Given the description of an element on the screen output the (x, y) to click on. 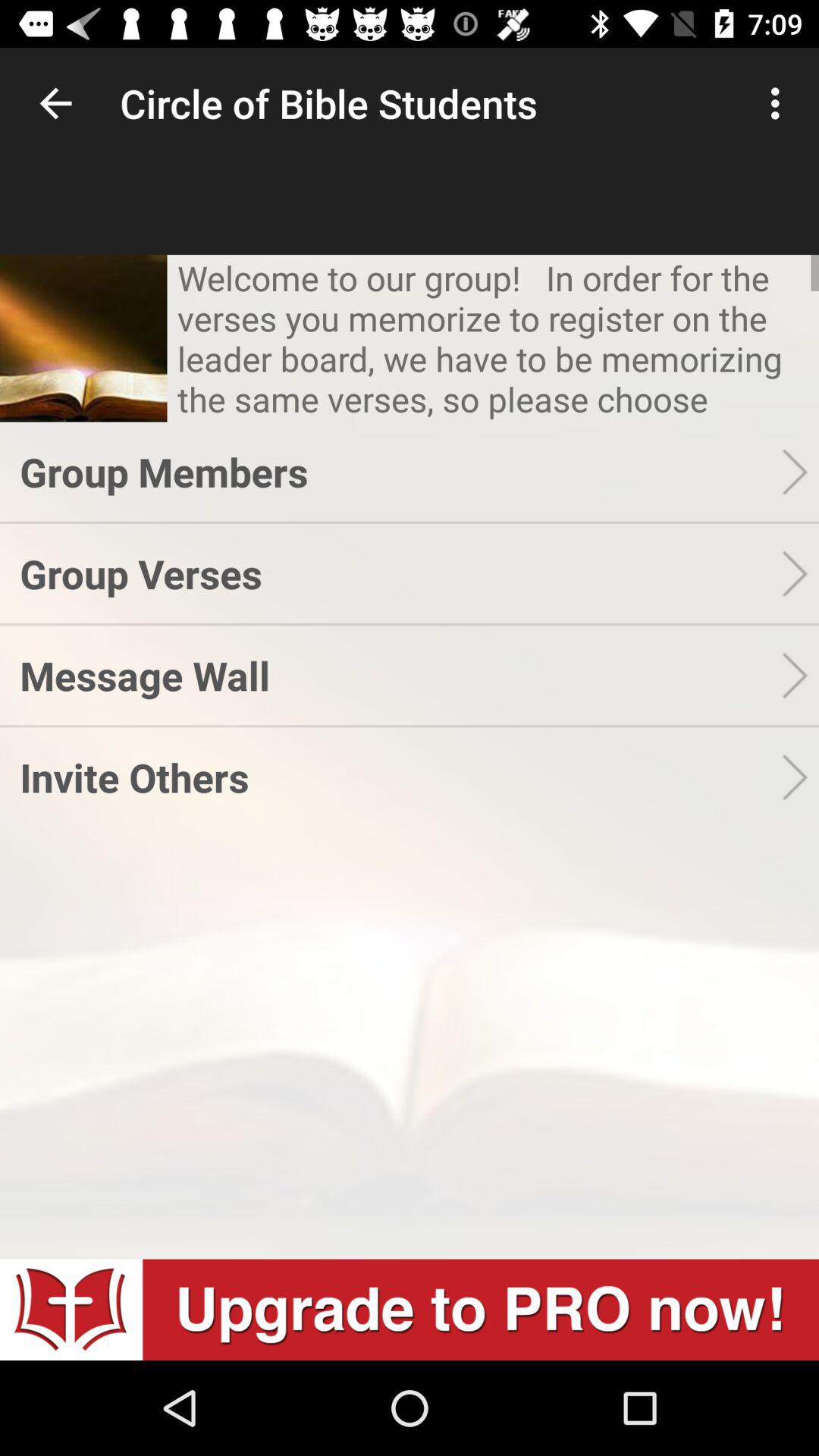
jump until the message wall app (399, 675)
